Given the description of an element on the screen output the (x, y) to click on. 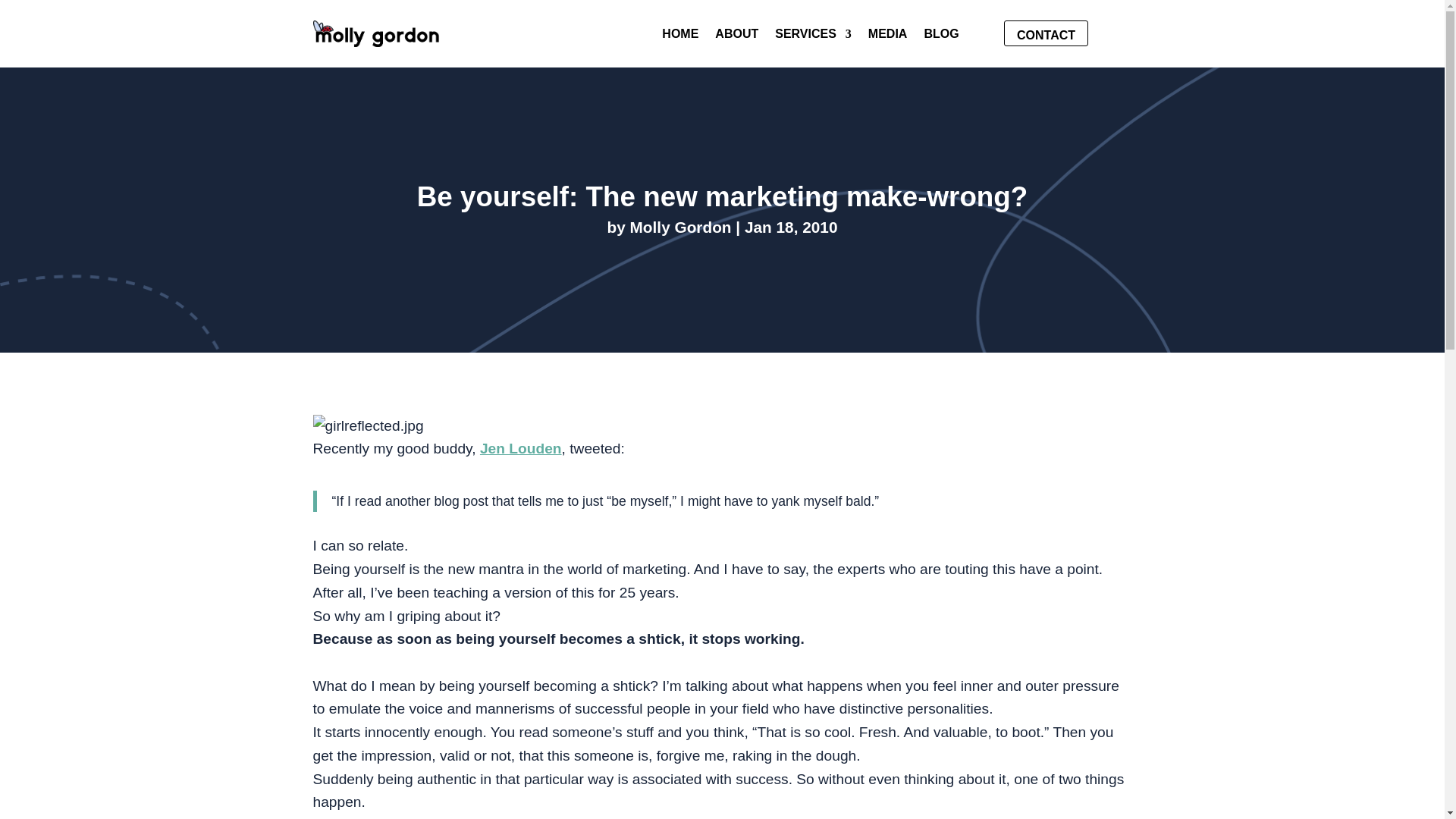
ABOUT (736, 36)
SERVICES (812, 36)
HOME (680, 36)
Posts by Molly Gordon (681, 226)
Molly Gordon (681, 226)
BLOG (940, 36)
Molly Gordon logo (376, 33)
Jen Louden (521, 448)
CONTACT (1045, 32)
MEDIA (887, 36)
